Given the description of an element on the screen output the (x, y) to click on. 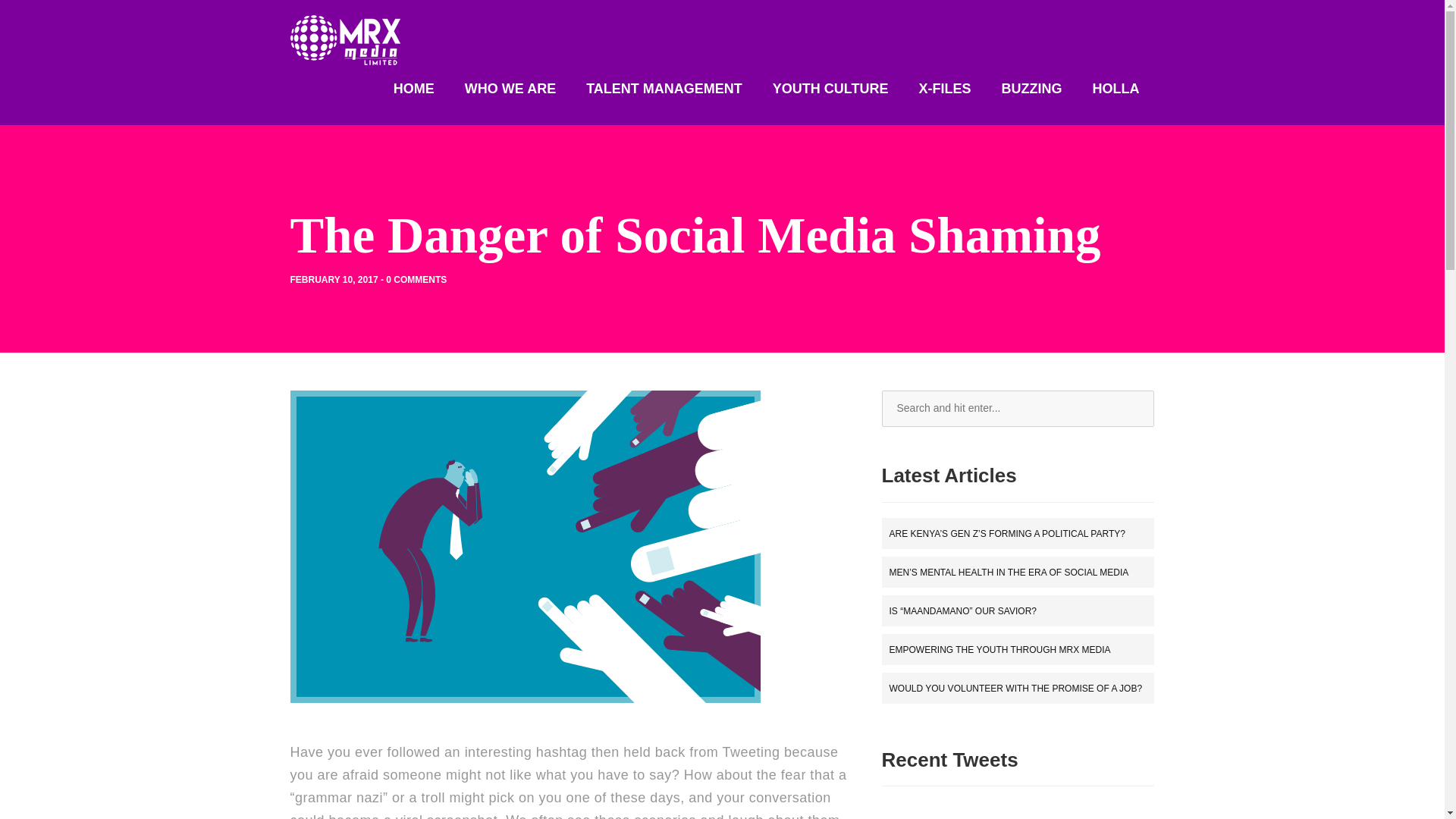
WOULD YOU VOLUNTEER WITH THE PROMISE OF A JOB? (1014, 688)
X-FILES (944, 88)
TALENT MANAGEMENT (664, 88)
HOLLA (1115, 88)
HOME (413, 88)
YOUTH CULTURE (830, 88)
WHO WE ARE (510, 88)
BUZZING (1031, 88)
YOUTH CULTURE (830, 88)
EMPOWERING THE YOUTH THROUGH MRX MEDIA (998, 649)
